Given the description of an element on the screen output the (x, y) to click on. 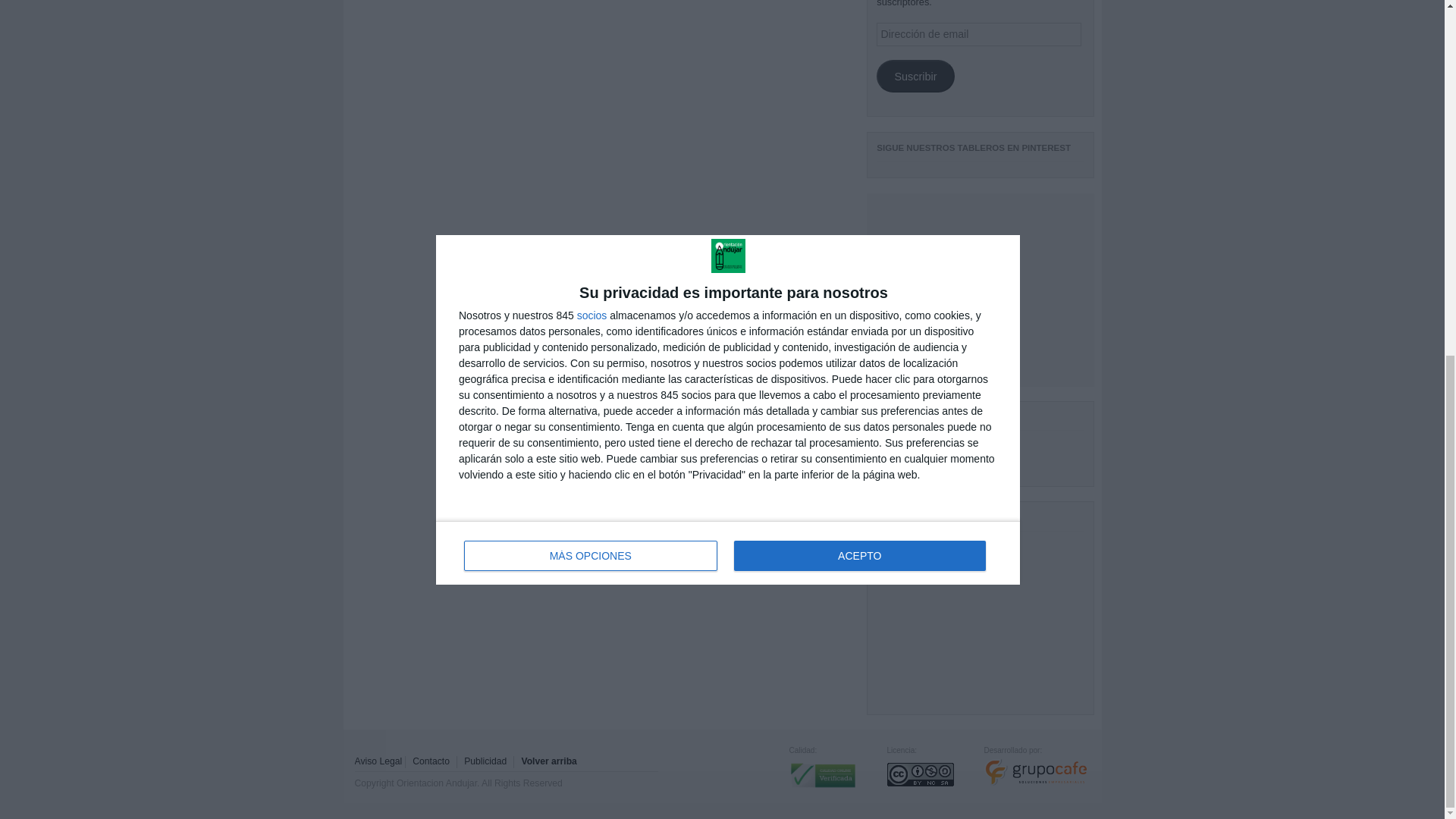
Aviso Legal (379, 761)
Certificado de calidad web (822, 788)
Asocie su imagen a Orientacion Andujar (485, 761)
